Given the description of an element on the screen output the (x, y) to click on. 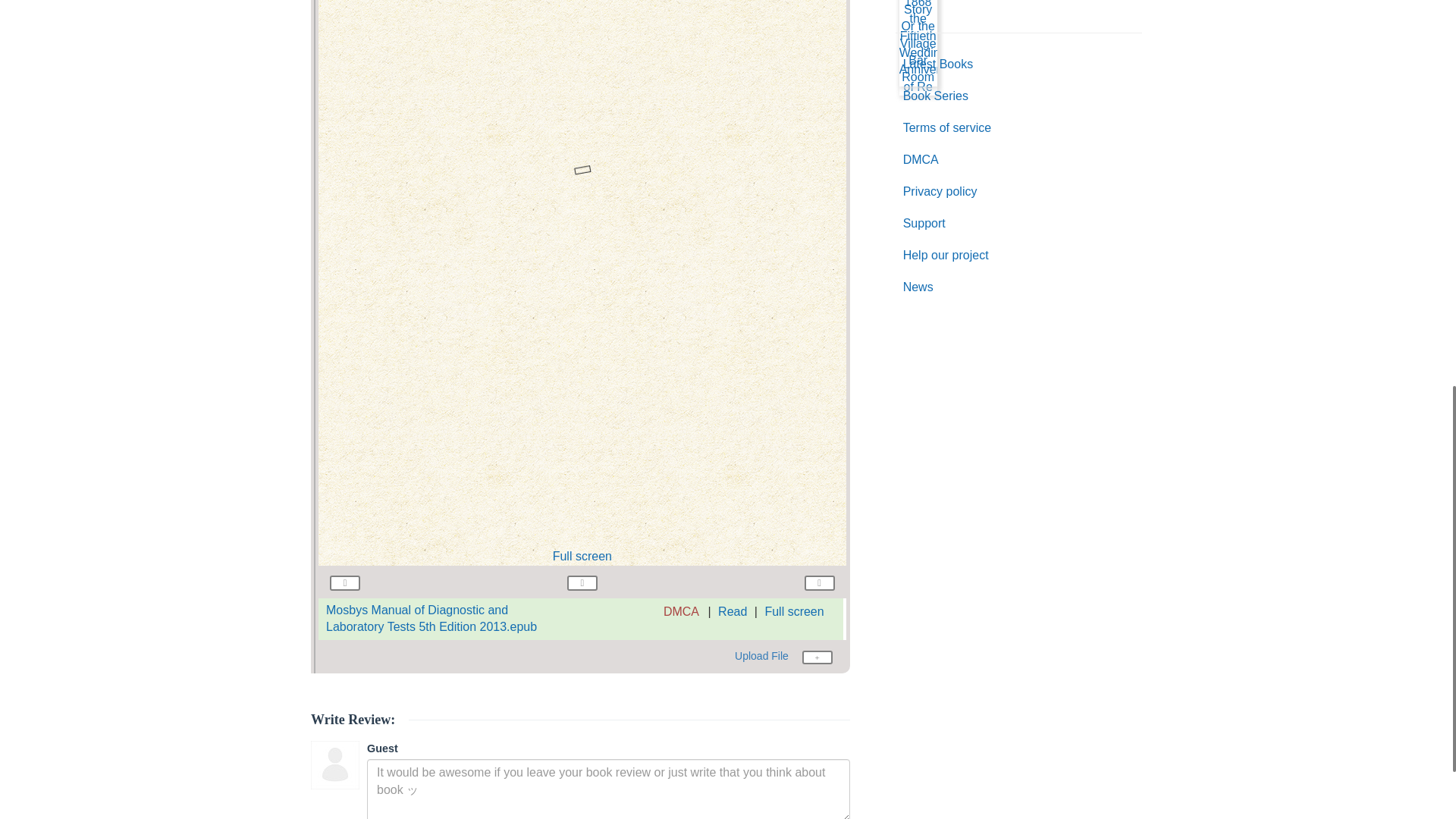
Previous page (344, 581)
Click to read online (431, 618)
Read (731, 611)
Click to read online (731, 611)
Upload File   (784, 656)
Next page (819, 581)
Full screen (794, 611)
Full screen (582, 555)
DMCA (681, 611)
